Given the description of an element on the screen output the (x, y) to click on. 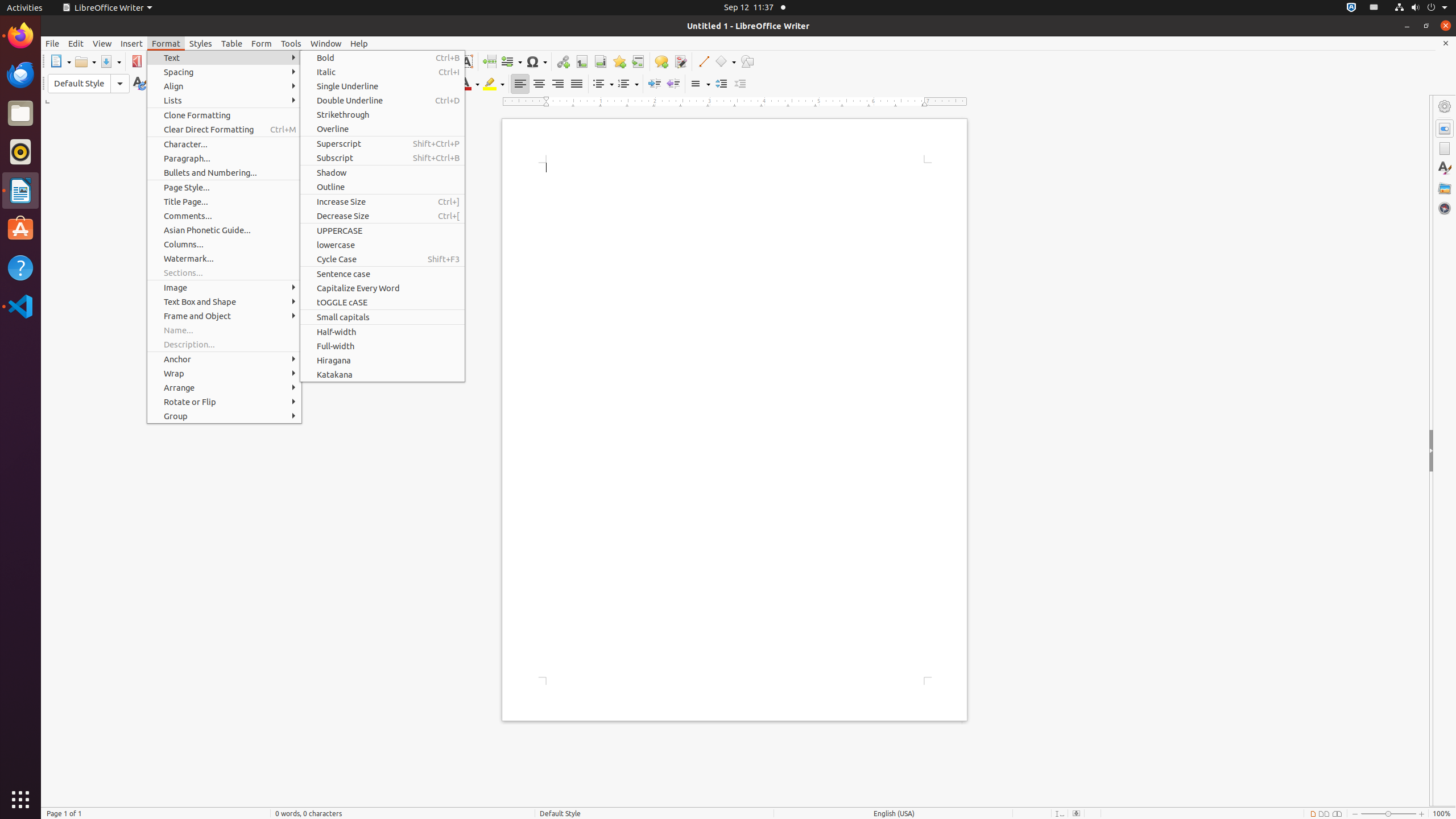
Increase Size Element type: menu-item (382, 201)
Hiragana Element type: menu-item (382, 360)
Text Box and Shape Element type: menu (224, 301)
File Element type: menu (51, 43)
Watermark... Element type: menu-item (224, 258)
